Given the description of an element on the screen output the (x, y) to click on. 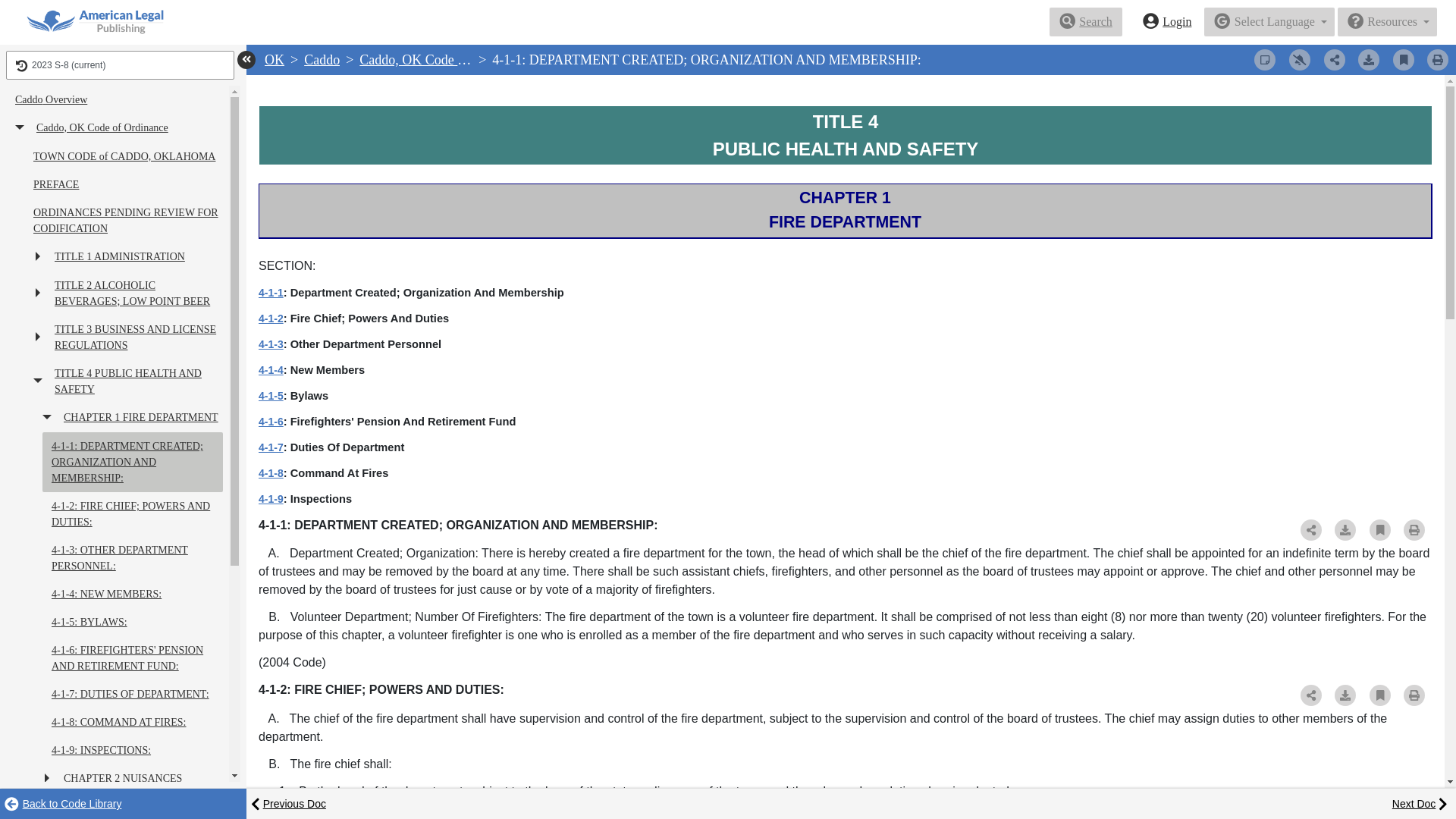
Download (1368, 59)
Bookmark (1403, 59)
Caddo, OK Code of Ordinance (443, 59)
Search (1085, 21)
Follow (1299, 59)
2023 S-8 (119, 64)
Caddo (321, 59)
Login (1167, 21)
Print (1437, 59)
Oklahoma (273, 59)
